Given the description of an element on the screen output the (x, y) to click on. 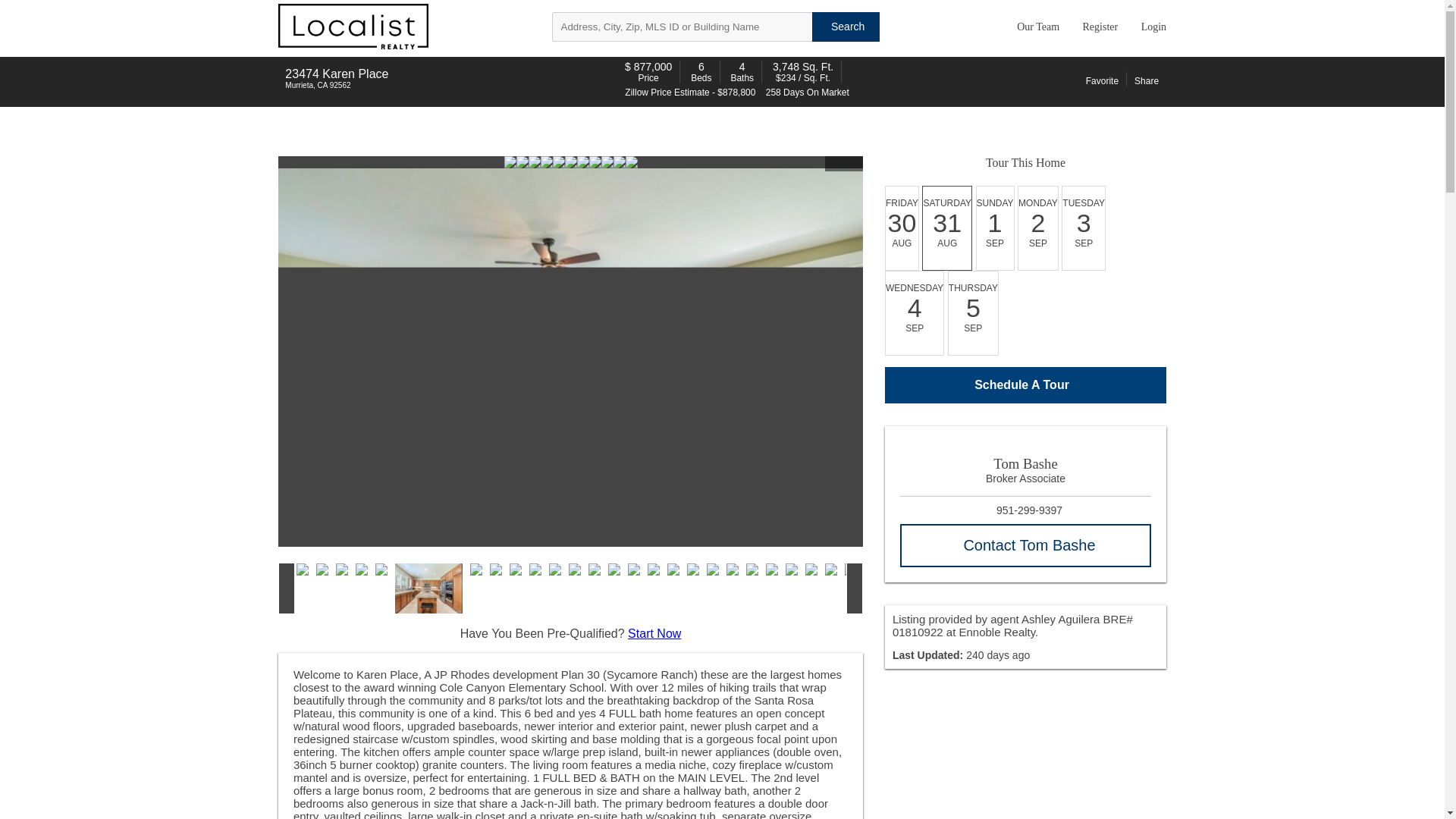
Search (845, 26)
Our Team (1034, 26)
Register (1096, 26)
Login (1150, 26)
